Given the description of an element on the screen output the (x, y) to click on. 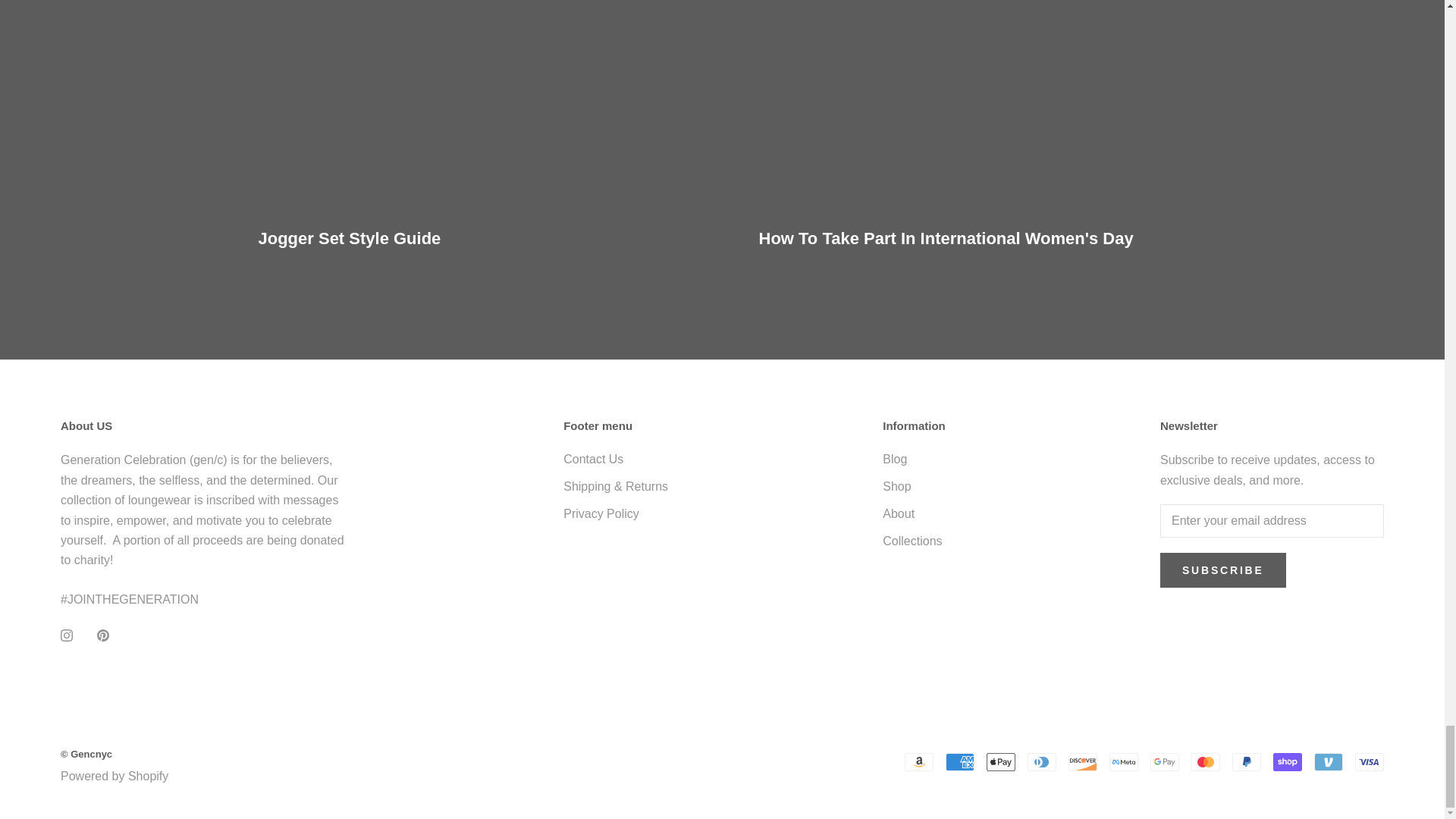
Venmo (1328, 761)
Mastercard (1205, 761)
Discover (1082, 761)
PayPal (1245, 761)
Diners Club (1042, 761)
Google Pay (1164, 761)
Shop Pay (1286, 761)
Apple Pay (1000, 761)
Amazon (918, 761)
American Express (959, 761)
Visa (1369, 761)
Meta Pay (1123, 761)
